Given the description of an element on the screen output the (x, y) to click on. 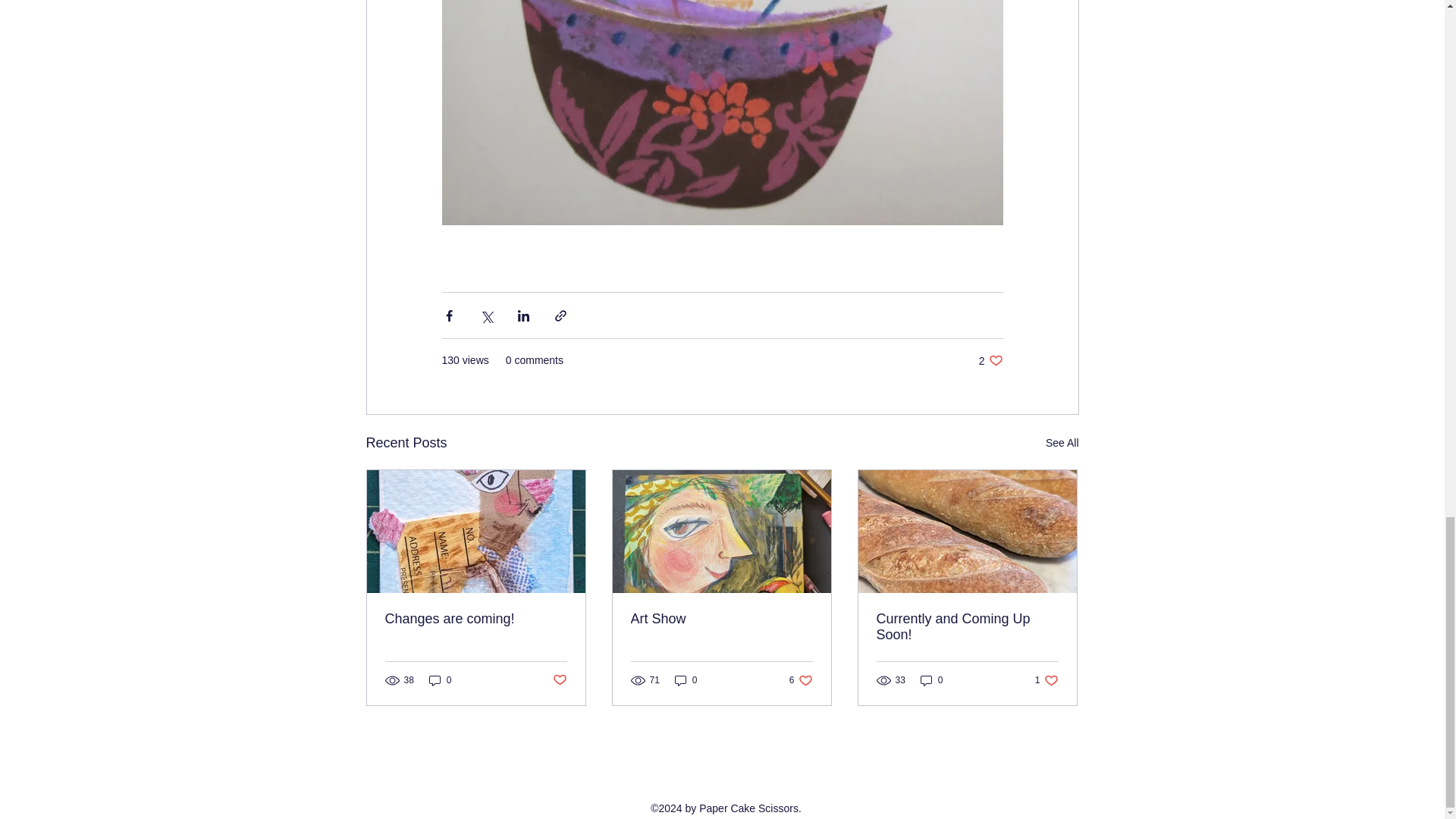
Art Show (721, 618)
0 (931, 680)
See All (1061, 443)
0 (685, 680)
Currently and Coming Up Soon! (800, 680)
Post not marked as liked (990, 359)
0 (967, 626)
